Given the description of an element on the screen output the (x, y) to click on. 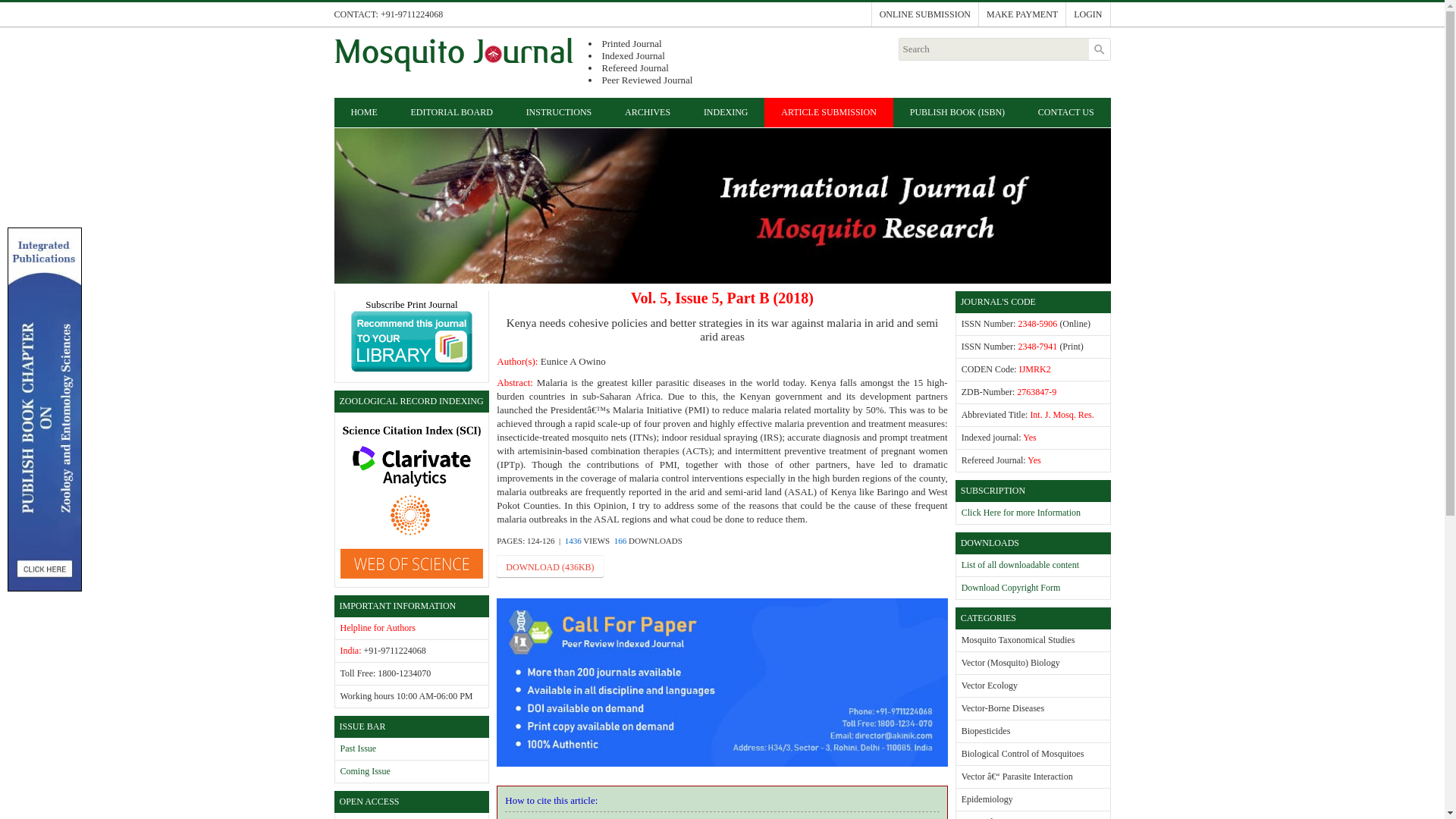
EDITORIAL BOARD (451, 112)
Past Issue (357, 747)
MAKE PAYMENT (1021, 14)
LOGIN (1087, 14)
HOME (363, 112)
CONTACT US (1066, 112)
Coming Issue (364, 770)
INSTRUCTIONS (558, 112)
Open Access Policy (375, 818)
ARCHIVES (647, 112)
INDEXING (725, 112)
Subscribe Print Journal (411, 337)
International Journal of Mosquito Research (452, 54)
ONLINE SUBMISSION (924, 14)
ARTICLE SUBMISSION (828, 112)
